Given the description of an element on the screen output the (x, y) to click on. 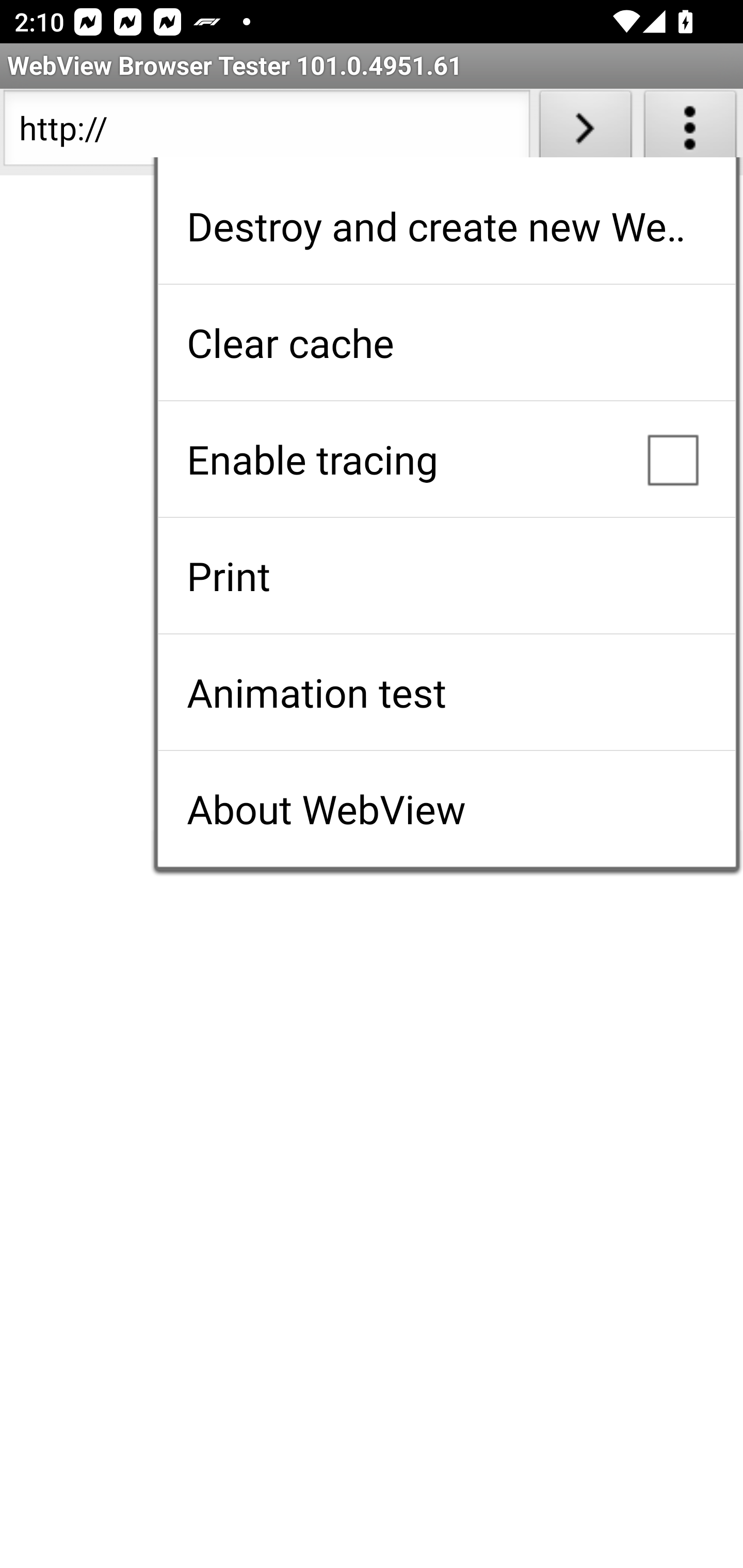
Destroy and create new WebView (446, 225)
Clear cache (446, 342)
Enable tracing (446, 459)
Print (446, 575)
Animation test (446, 692)
About WebView (446, 809)
